Given the description of an element on the screen output the (x, y) to click on. 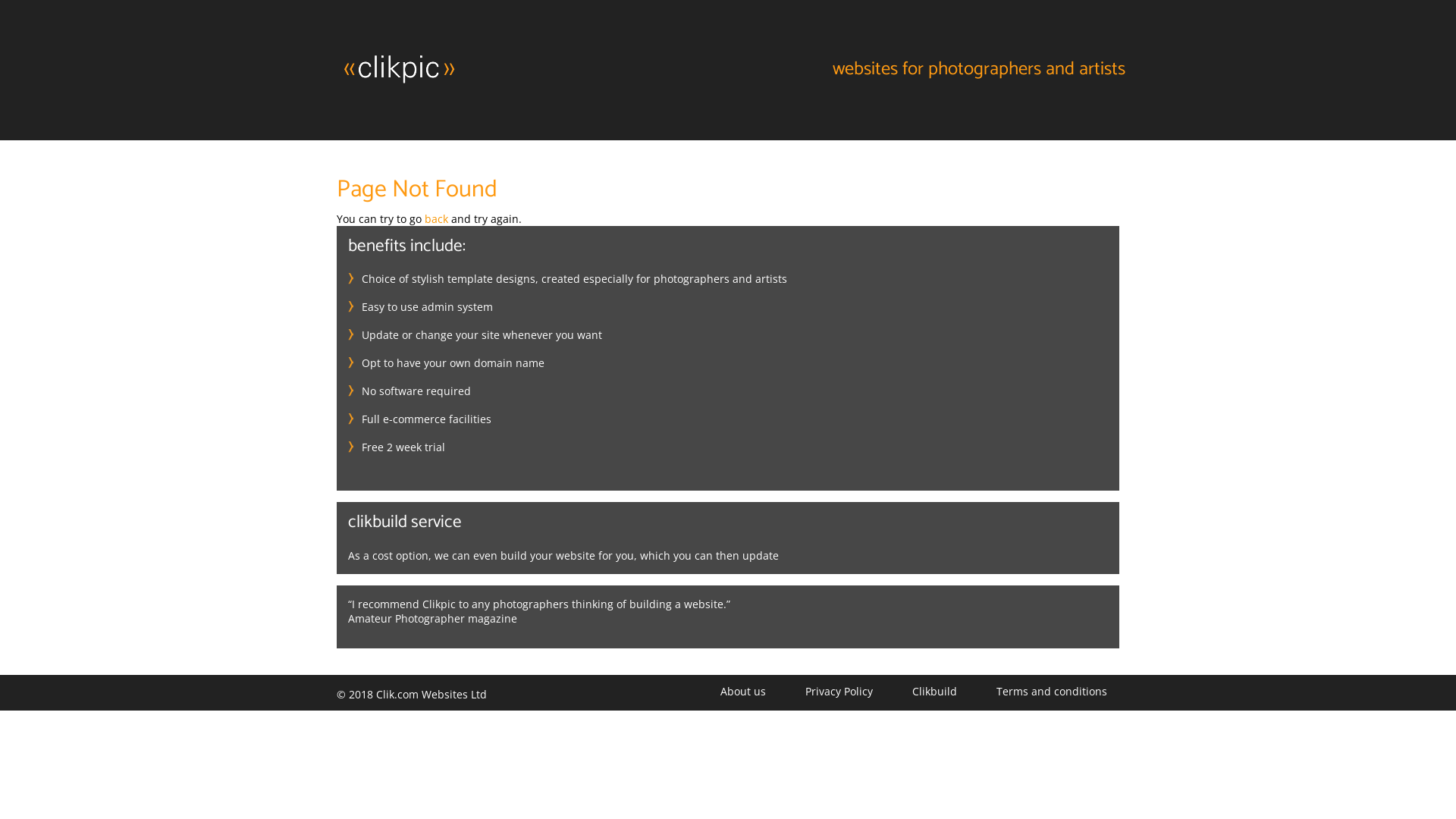
Clikbuild Element type: text (934, 691)
Privacy Policy Element type: text (839, 691)
Terms and conditions Element type: text (1051, 691)
clikbuild service Element type: text (404, 522)
back Element type: text (436, 218)
About us Element type: text (752, 691)
